Given the description of an element on the screen output the (x, y) to click on. 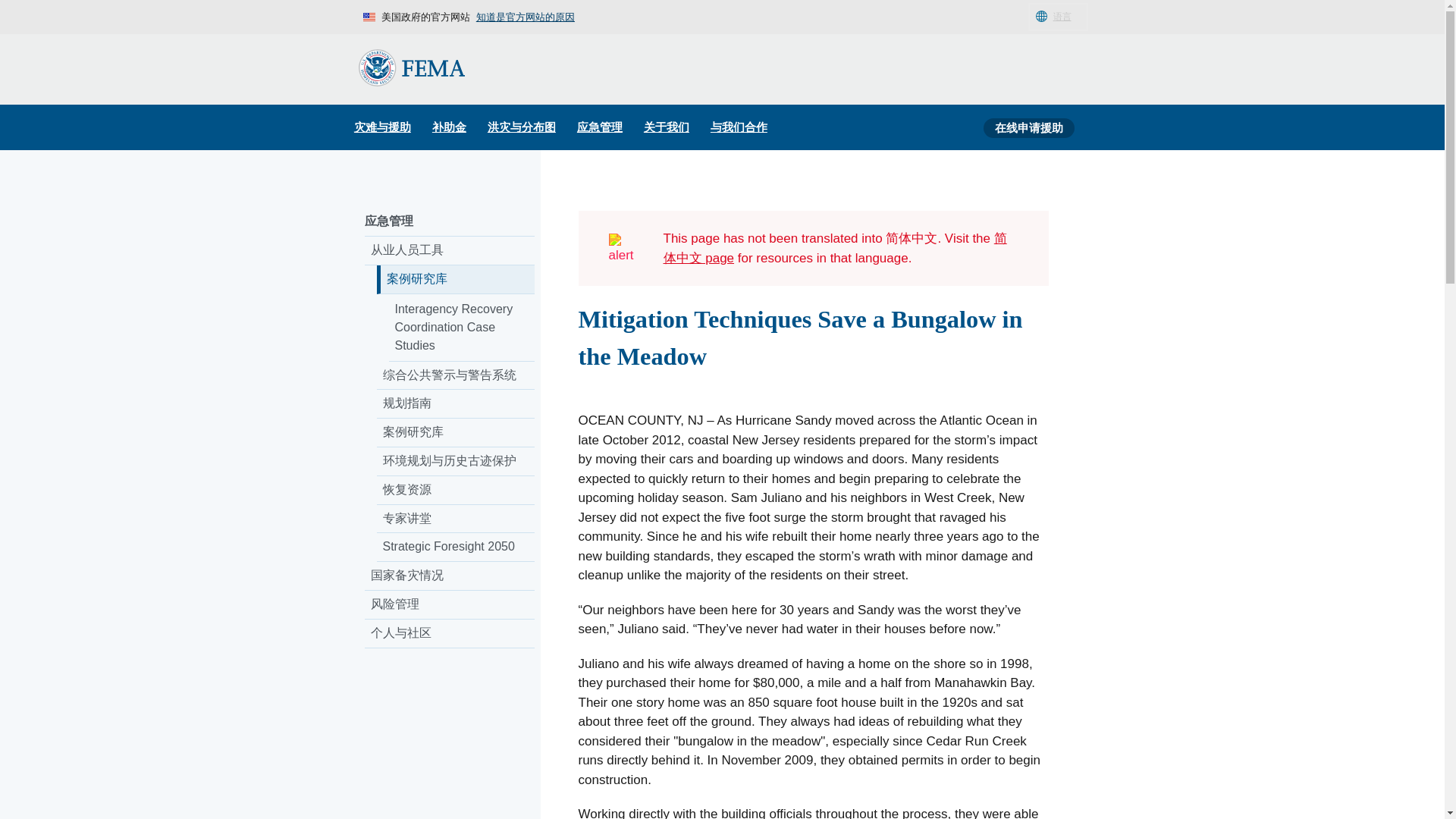
FEMA logo (411, 67)
